Given the description of an element on the screen output the (x, y) to click on. 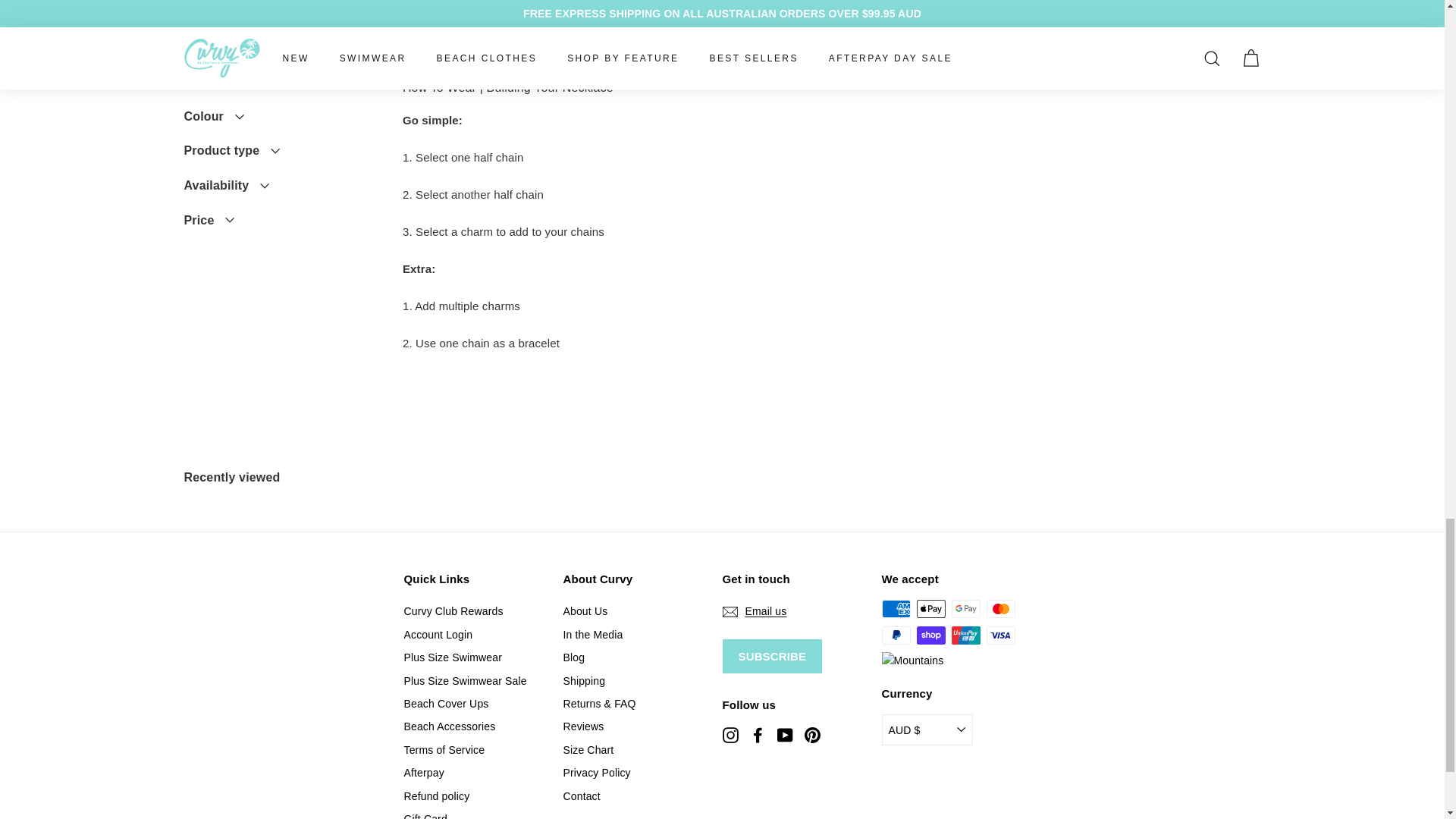
Google Pay (964, 608)
Curvy Swimwear Australia  on YouTube (784, 733)
Curvy Swimwear Australia  on Instagram (730, 733)
American Express (895, 608)
PayPal (895, 635)
Apple Pay (929, 608)
Curvy Swimwear Australia  on Pinterest (811, 733)
Curvy Swimwear Australia  on Facebook (757, 733)
Mastercard (999, 608)
